Given the description of an element on the screen output the (x, y) to click on. 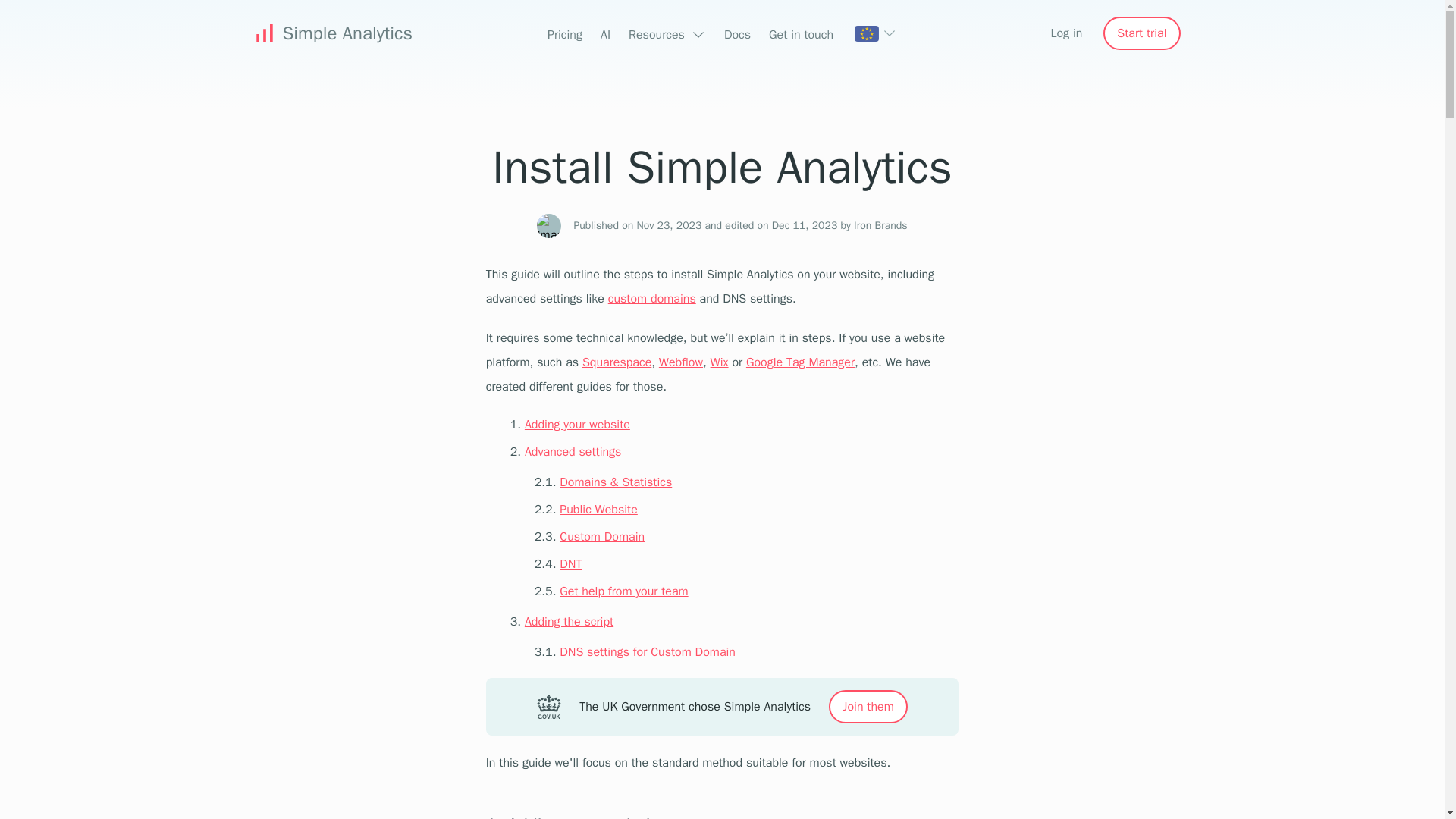
Google Tag Manager (799, 362)
custom domains (651, 298)
Webflow (681, 362)
Join them (867, 706)
Custom Domain (602, 536)
Get help from your team (623, 590)
Squarespace (616, 362)
Adding your website (577, 424)
Pricing (564, 34)
DNT (569, 563)
Get in touch (800, 34)
Advanced settings (572, 451)
Docs (737, 34)
Public Website (598, 509)
Start trial (1141, 32)
